Given the description of an element on the screen output the (x, y) to click on. 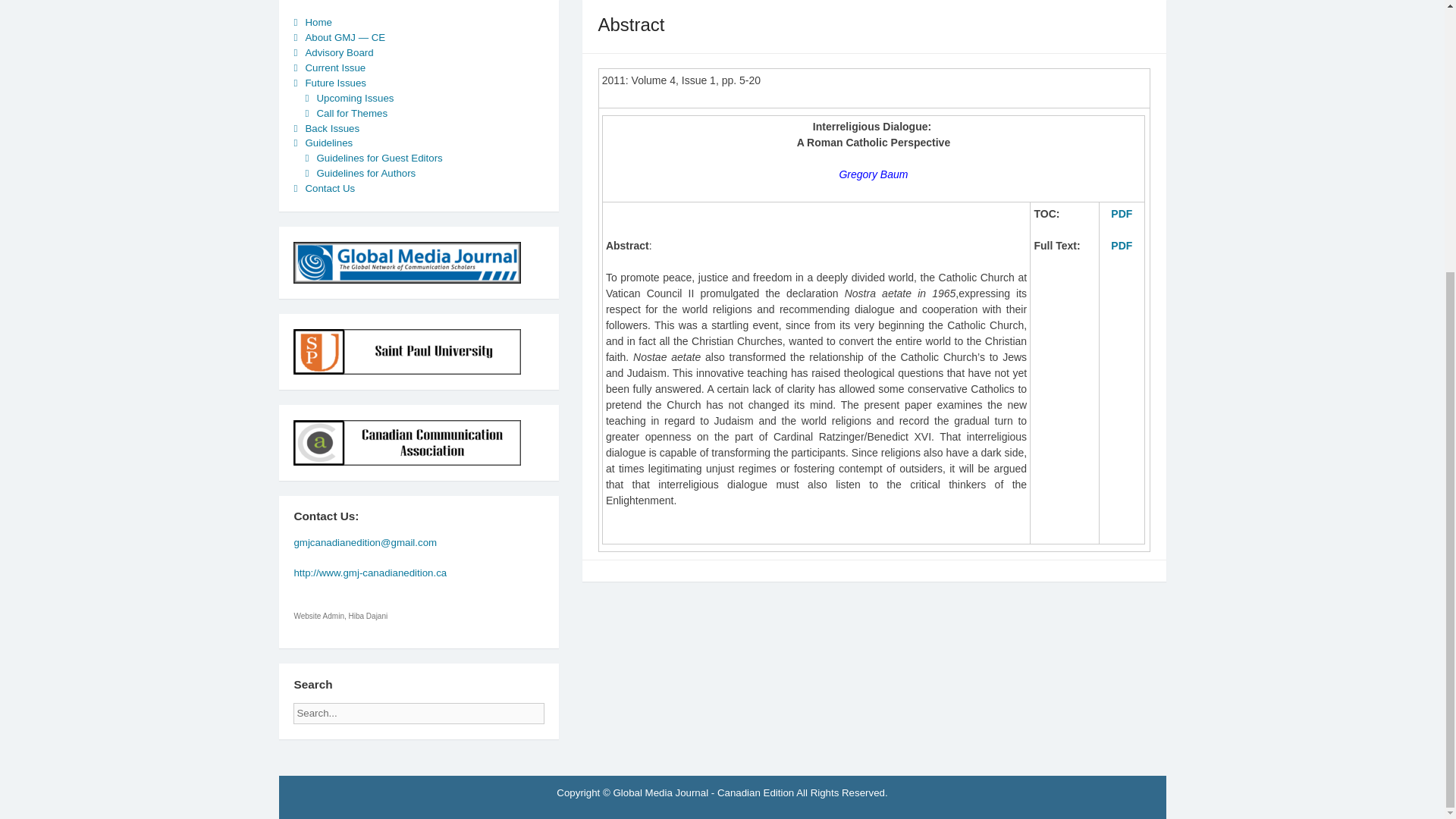
Future Issues (335, 82)
Home (317, 21)
Guidelines (328, 142)
Guidelines for Guest Editors (378, 157)
Search (556, 708)
PDF (1121, 244)
PDF (1121, 213)
Guidelines for Authors (364, 173)
Upcoming Issues (354, 98)
Back Issues (331, 127)
Search (556, 708)
Advisory Board (338, 52)
Contact Us (329, 188)
Call for Themes (351, 112)
Current Issue (334, 67)
